Given the description of an element on the screen output the (x, y) to click on. 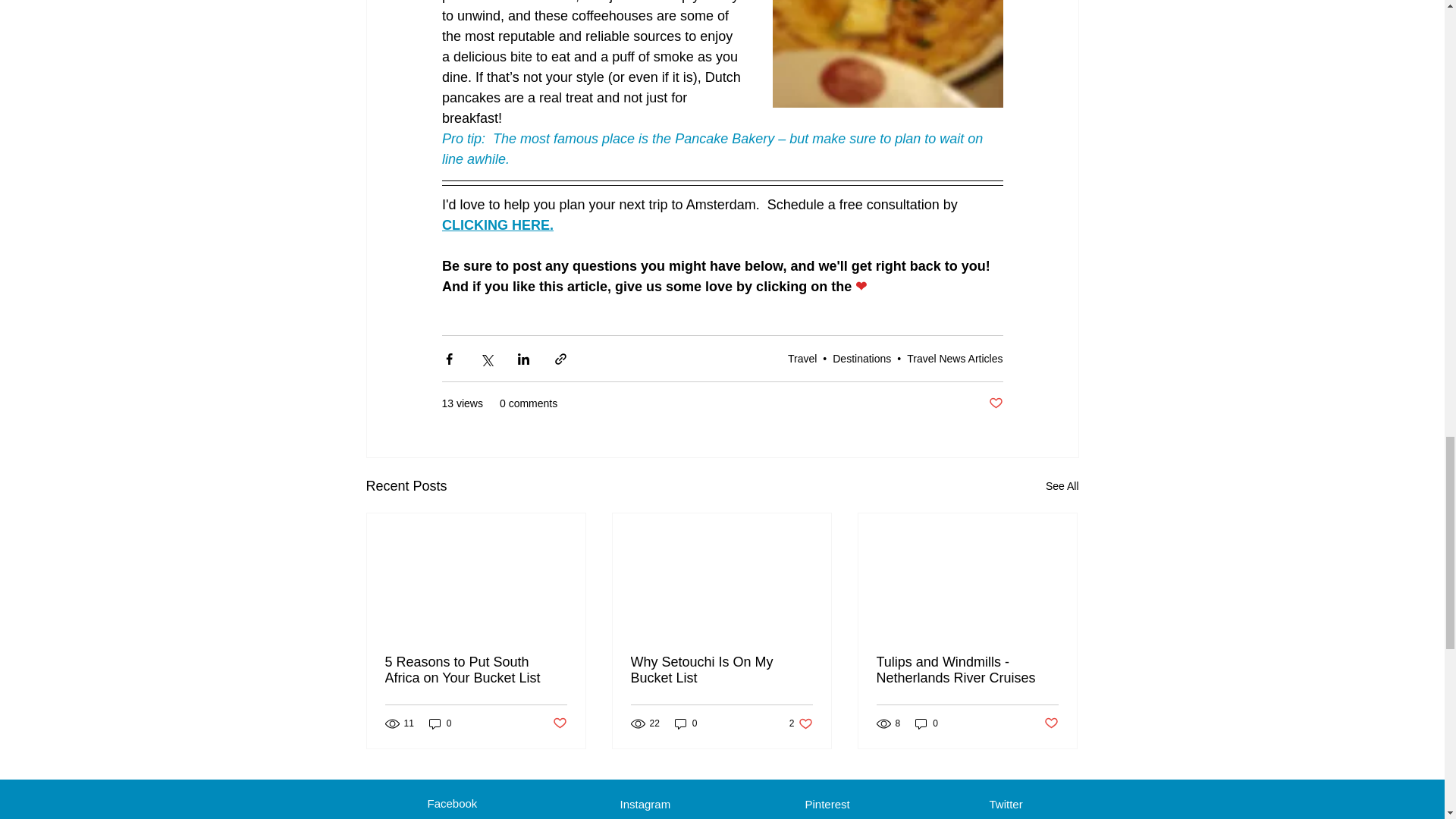
CLICK (462, 224)
